Given the description of an element on the screen output the (x, y) to click on. 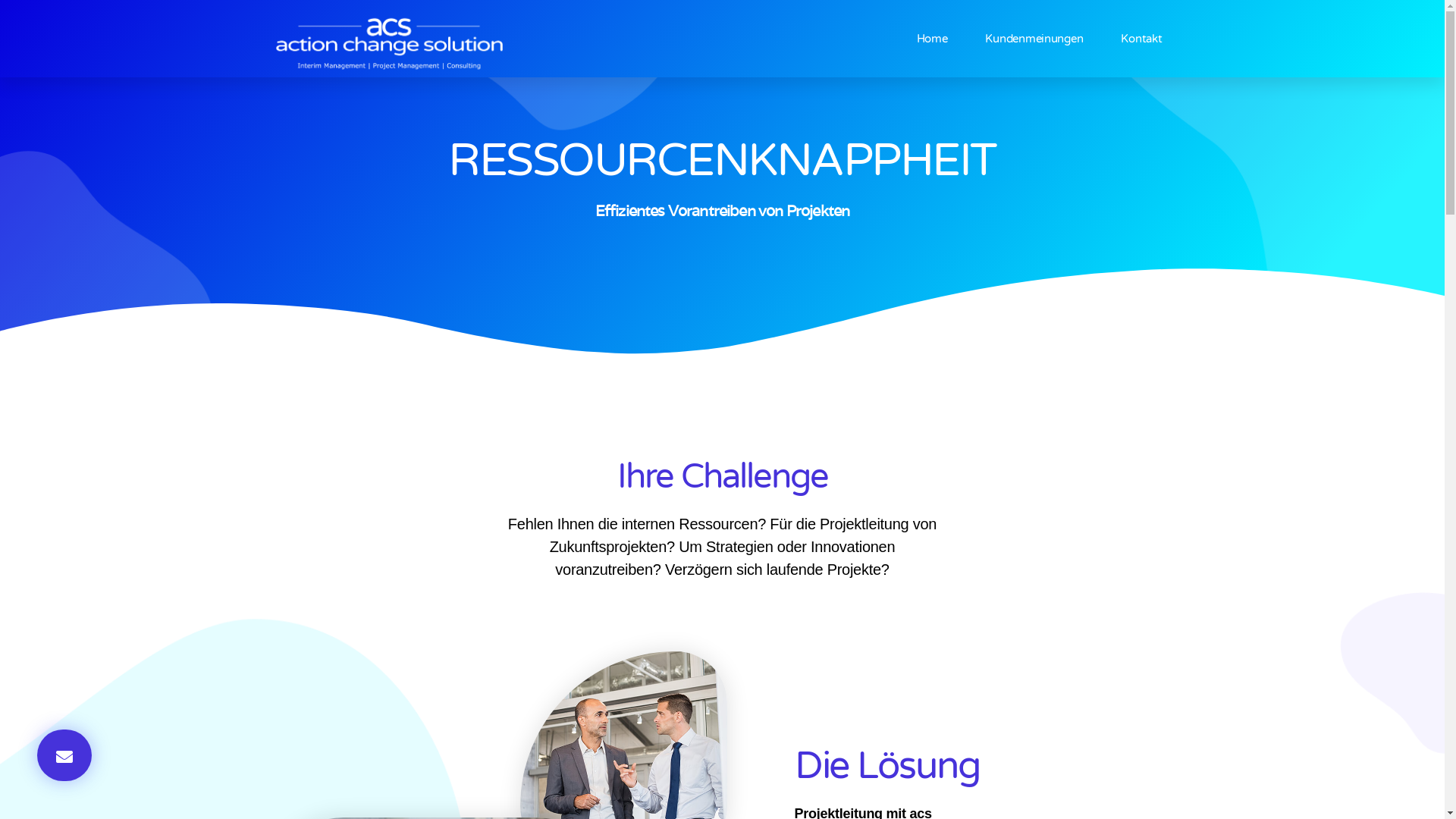
Kontakt Element type: text (1140, 38)
Kundenmeinungen Element type: text (1033, 38)
Home Element type: text (931, 38)
